Given the description of an element on the screen output the (x, y) to click on. 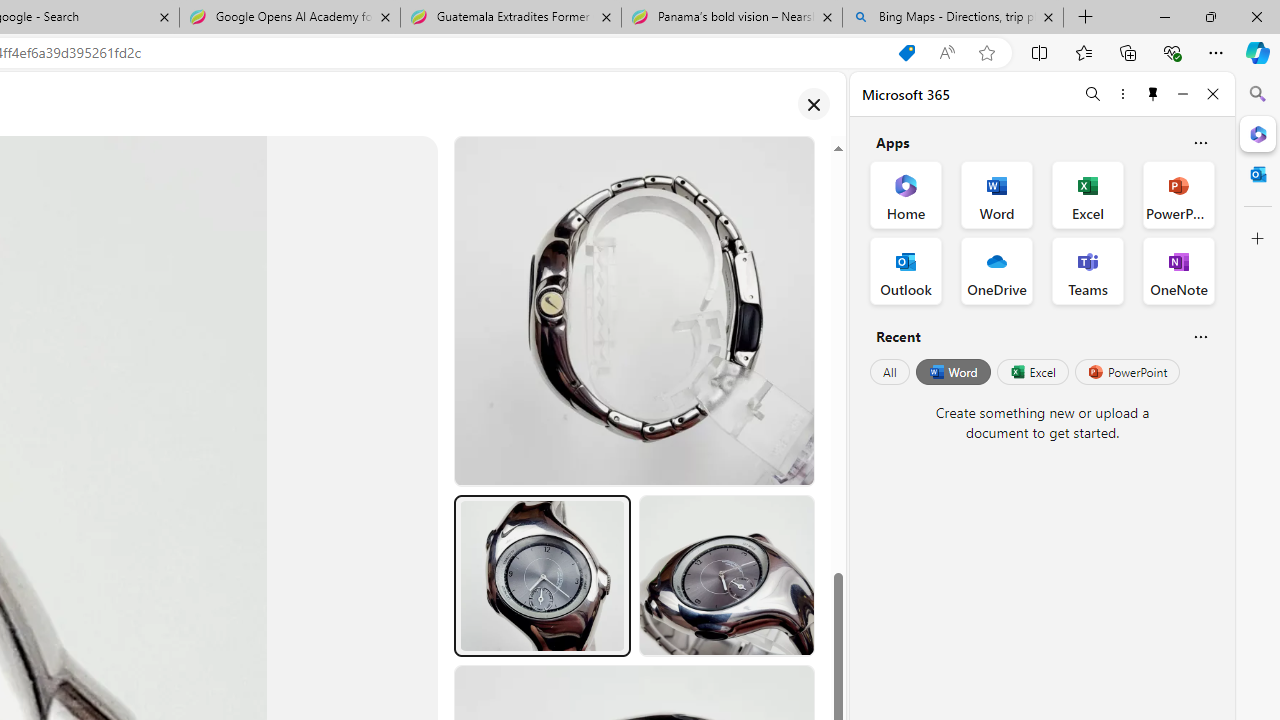
Close image gallery dialog (813, 103)
Outlook Office App (906, 270)
PowerPoint Office App (1178, 194)
You have the best price! Shopping in Microsoft Edge (906, 53)
Is this helpful? (1200, 336)
Home Office App (906, 194)
